Given the description of an element on the screen output the (x, y) to click on. 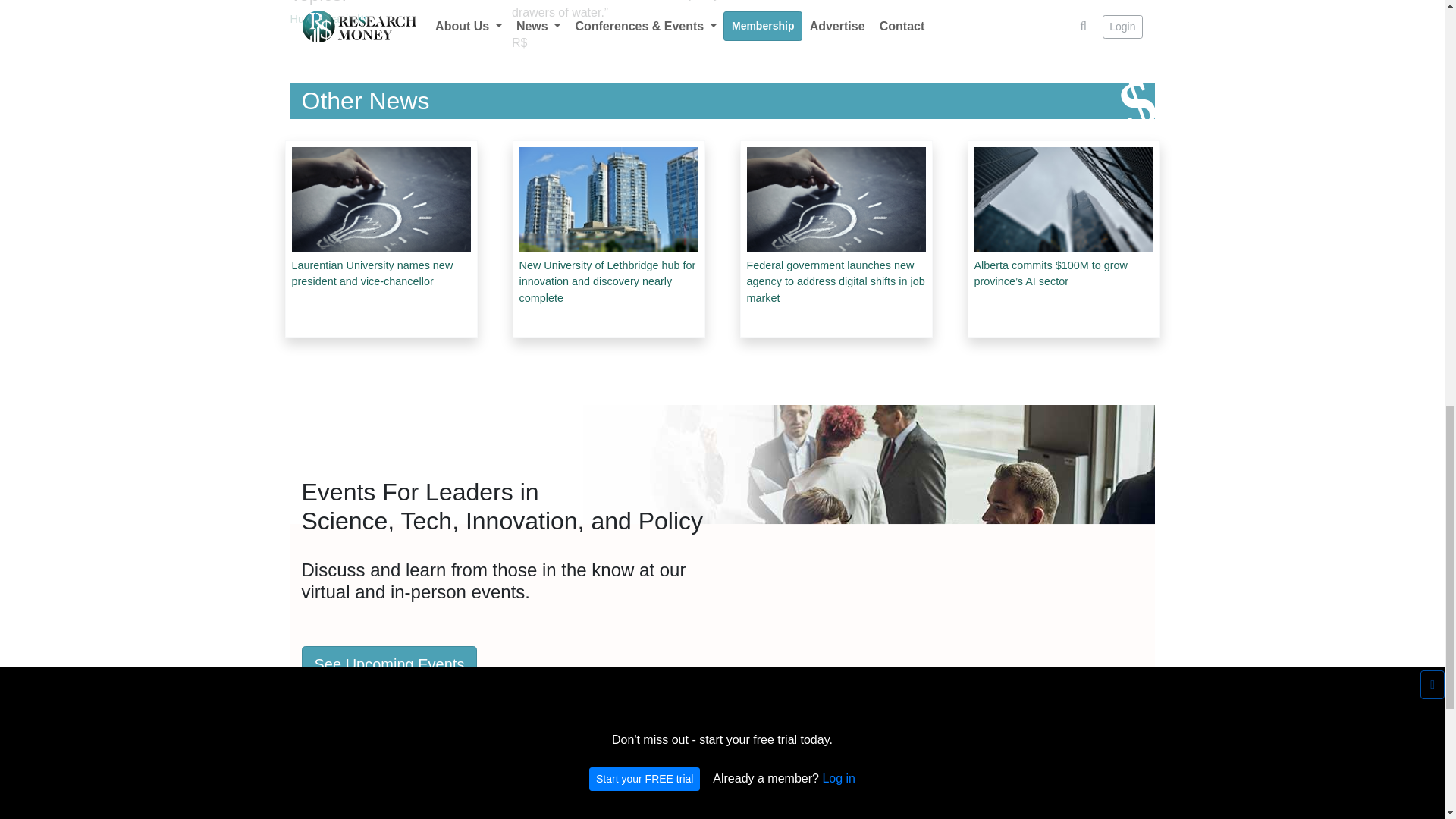
See Upcoming Events (389, 664)
